Given the description of an element on the screen output the (x, y) to click on. 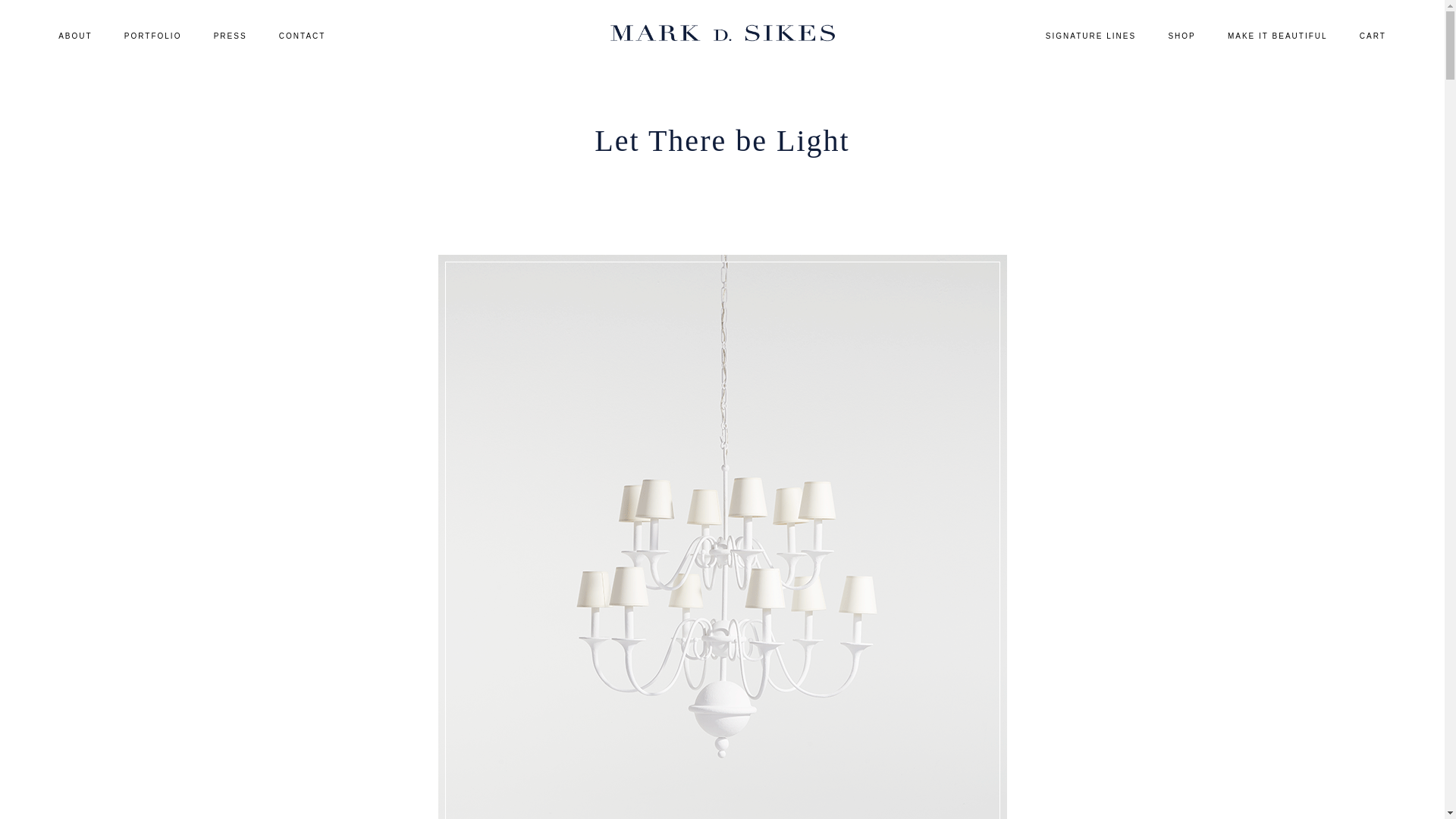
SHOP (1181, 36)
PORTFOLIO (152, 36)
SIGNATURE LINES (1090, 36)
CART (1372, 36)
CONTACT (302, 36)
ABOUT (74, 36)
MAKE IT BEAUTIFUL (1277, 36)
PRESS (230, 36)
